Given the description of an element on the screen output the (x, y) to click on. 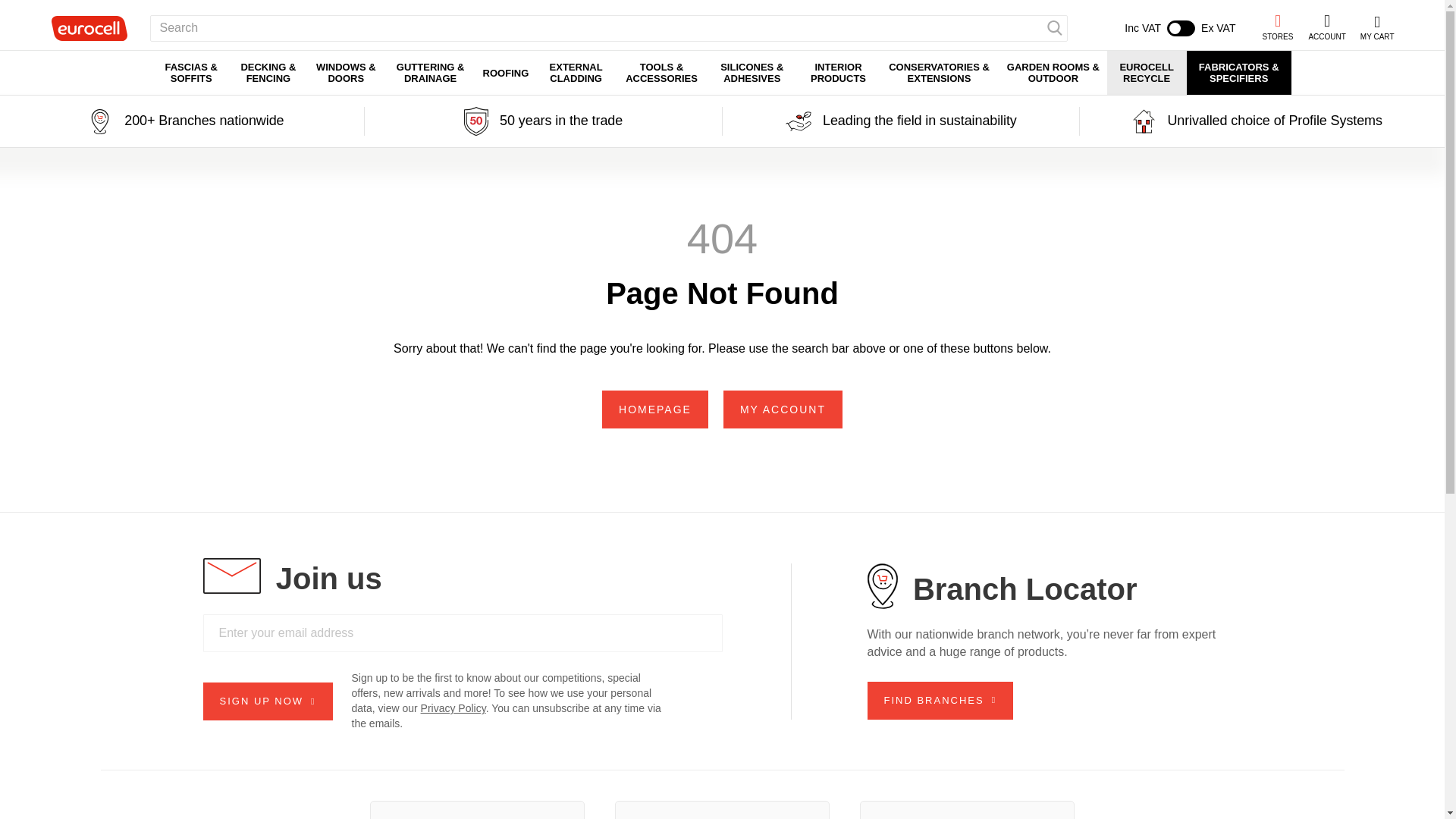
STORES (1277, 27)
Sign up now (268, 701)
ACCOUNT (1326, 27)
MY CART (1179, 28)
